Given the description of an element on the screen output the (x, y) to click on. 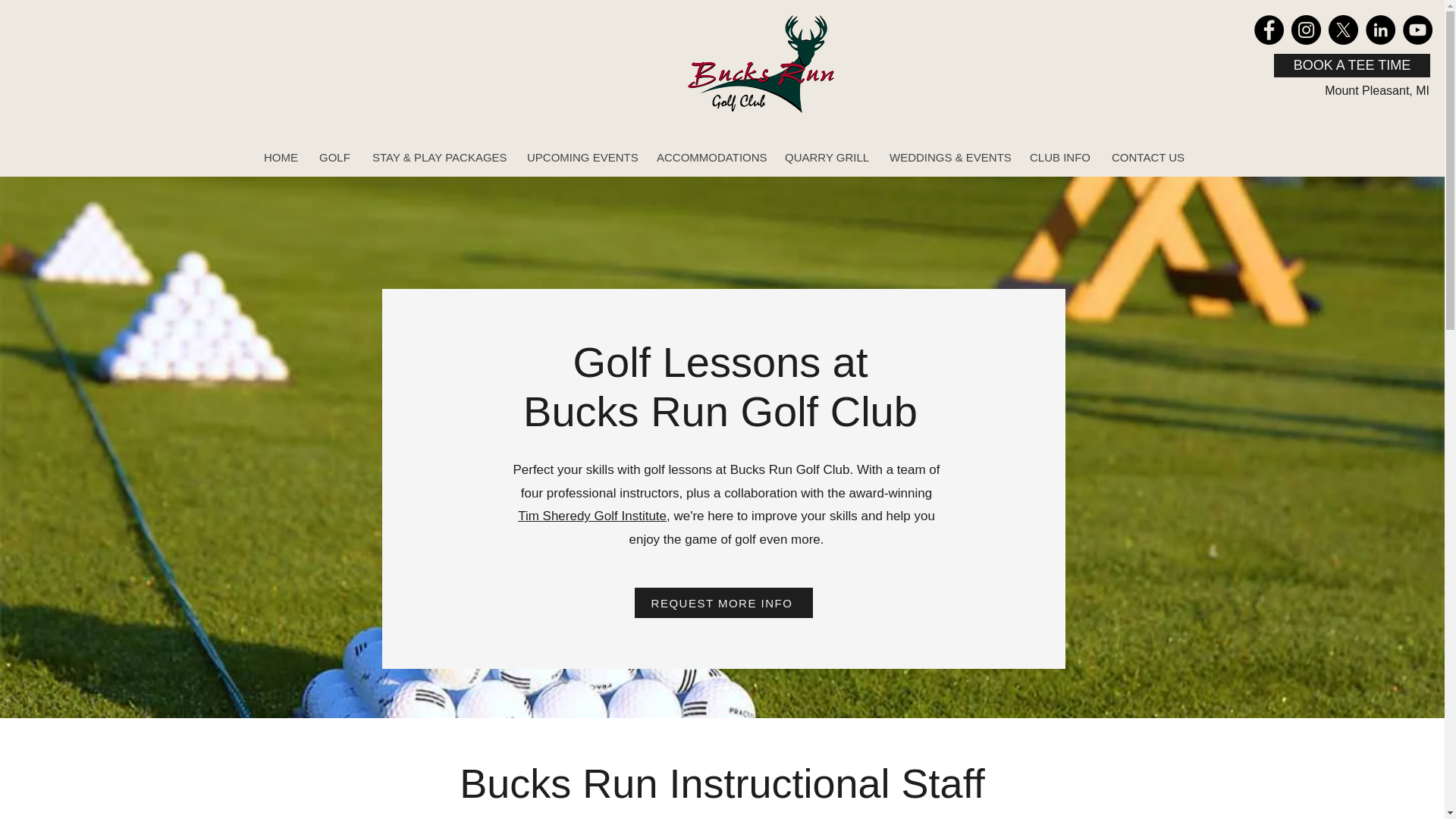
HOME (279, 157)
BOOK A TEE TIME (1351, 65)
ACCOMMODATIONS (709, 157)
QUARRY GRILL (825, 157)
Tim Sheredy Golf Institute (592, 515)
CONTACT US (1145, 157)
UPCOMING EVENTS (580, 157)
REQUEST MORE INFO (722, 603)
